Given the description of an element on the screen output the (x, y) to click on. 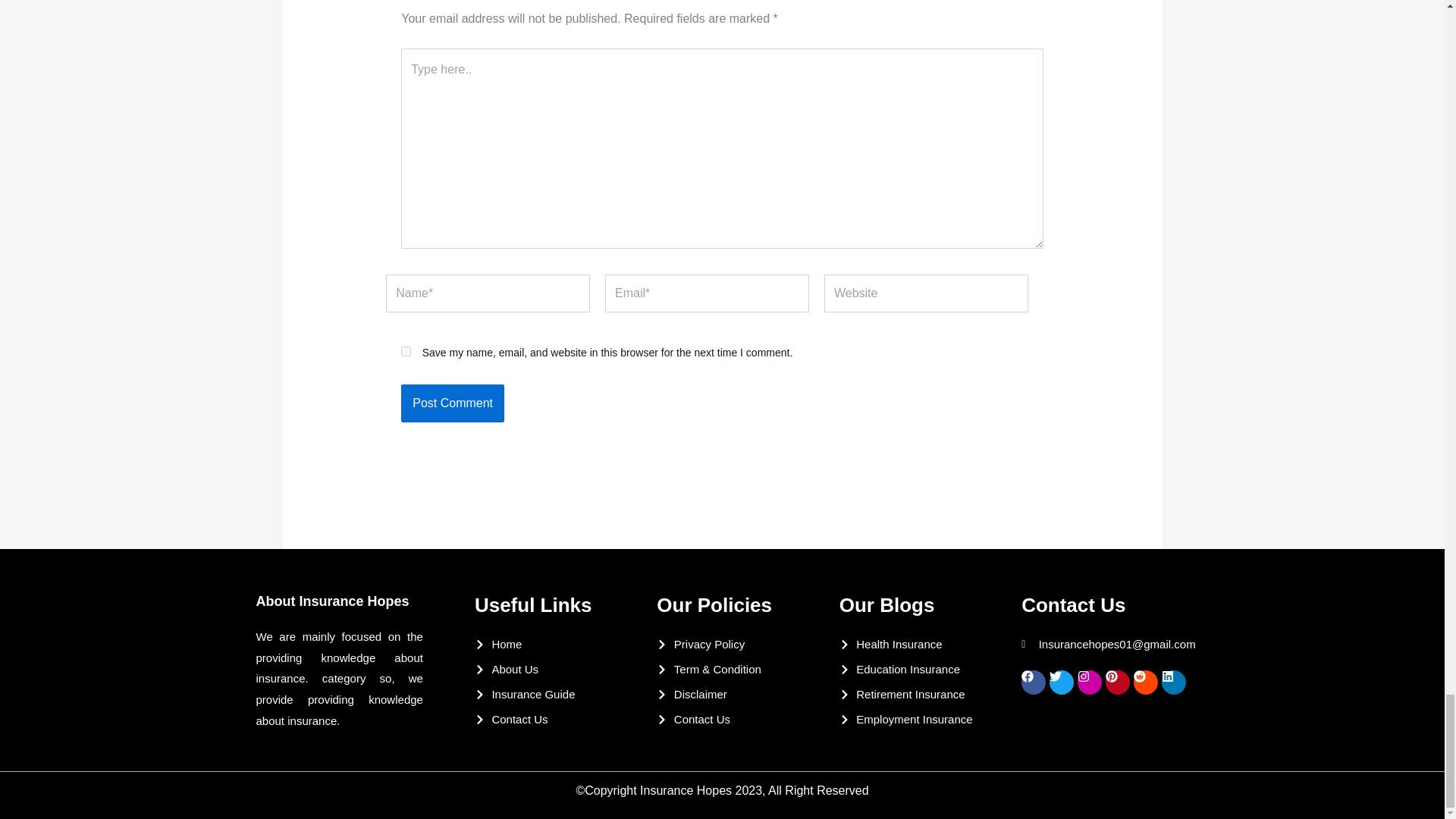
Linkedin (1173, 682)
Post Comment (452, 403)
About Insurance Hopes (332, 601)
yes (405, 351)
Twitter (1061, 682)
Instagram (1089, 682)
Pinterest (1117, 682)
Facebook (1033, 682)
Reddit (1145, 682)
Post Comment (452, 403)
